Given the description of an element on the screen output the (x, y) to click on. 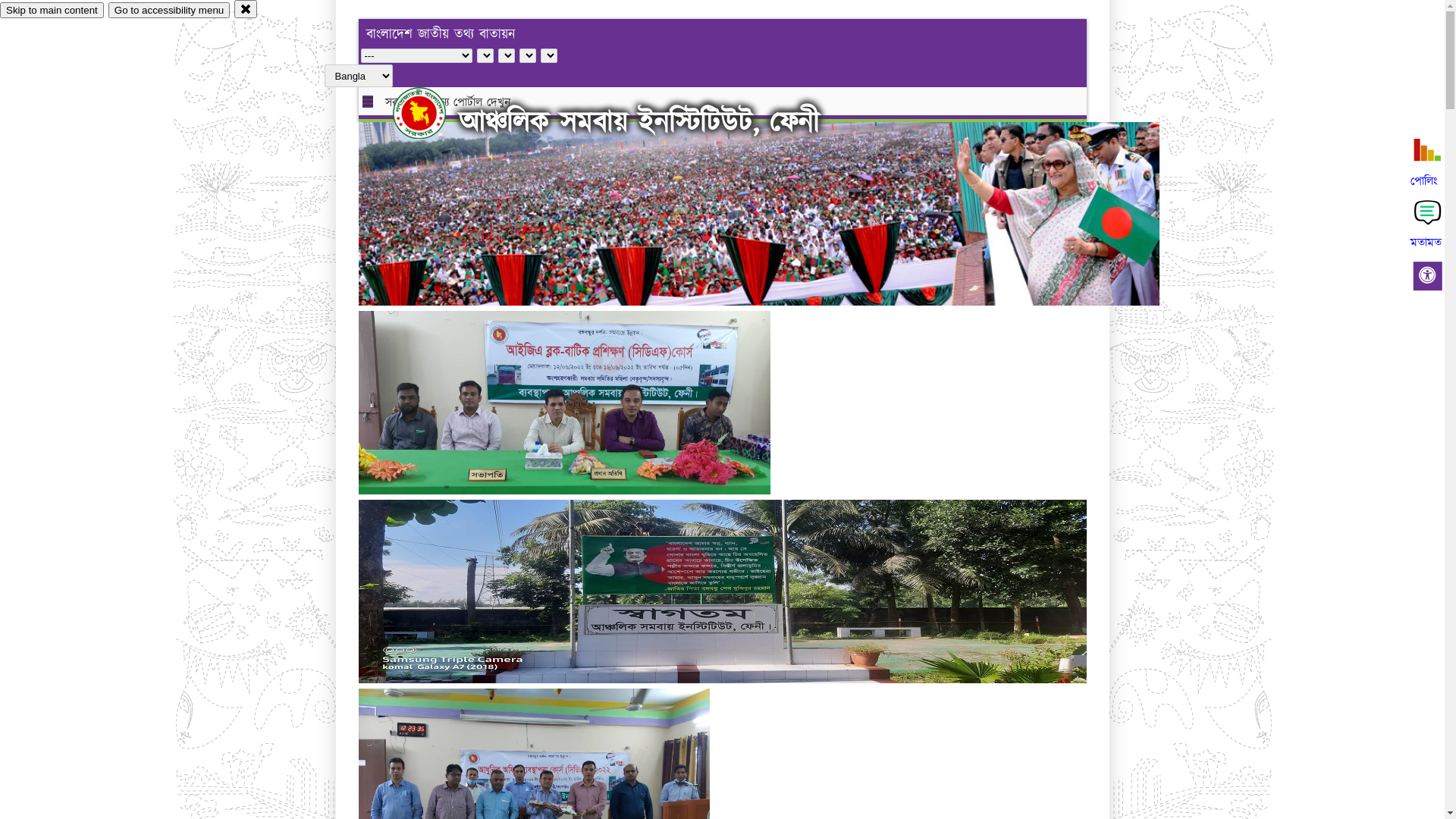
close Element type: hover (245, 9)
Skip to main content Element type: text (51, 10)
Go to accessibility menu Element type: text (168, 10)

                
             Element type: hover (431, 112)
